Given the description of an element on the screen output the (x, y) to click on. 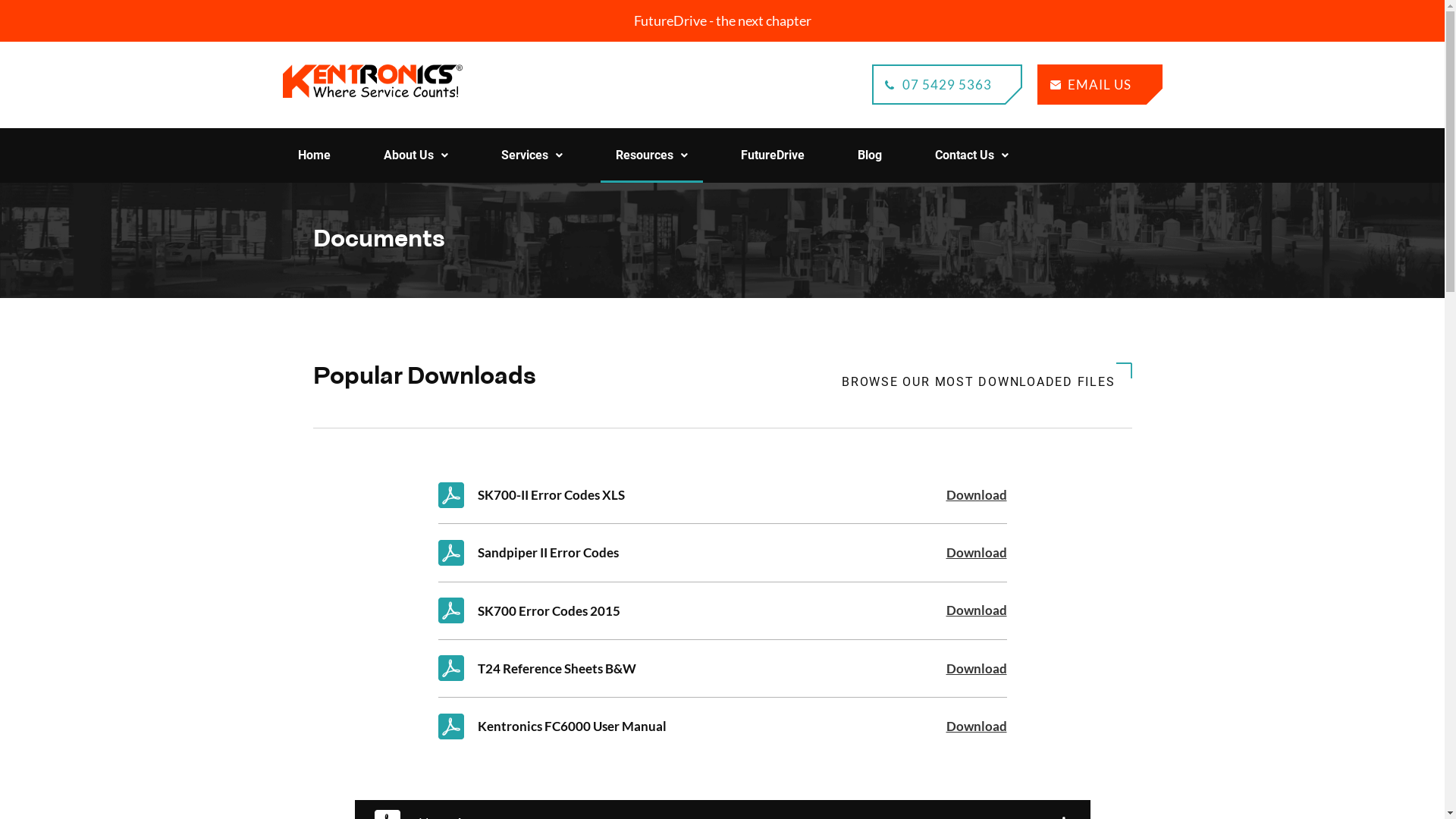
Home Element type: text (313, 155)
Download Element type: text (976, 668)
Download Element type: text (976, 494)
SK700 Error Codes 2015 Element type: text (684, 610)
Download Element type: text (976, 609)
EMAIL US Element type: text (1099, 84)
FutureDrive Element type: text (771, 155)
SK700-II Error Codes XLS Element type: text (684, 494)
Sandpiper II Error Codes Element type: text (684, 552)
Download Element type: text (976, 725)
Download Element type: text (976, 552)
Services Element type: text (531, 155)
Contact Us Element type: text (970, 155)
Resources Element type: text (651, 155)
Blog Element type: text (868, 155)
07 5429 5363 Element type: text (947, 84)
About Us Element type: text (415, 155)
Kentronics FC6000 User Manual Element type: text (684, 725)
T24 Reference Sheets B&W Element type: text (684, 668)
